Given the description of an element on the screen output the (x, y) to click on. 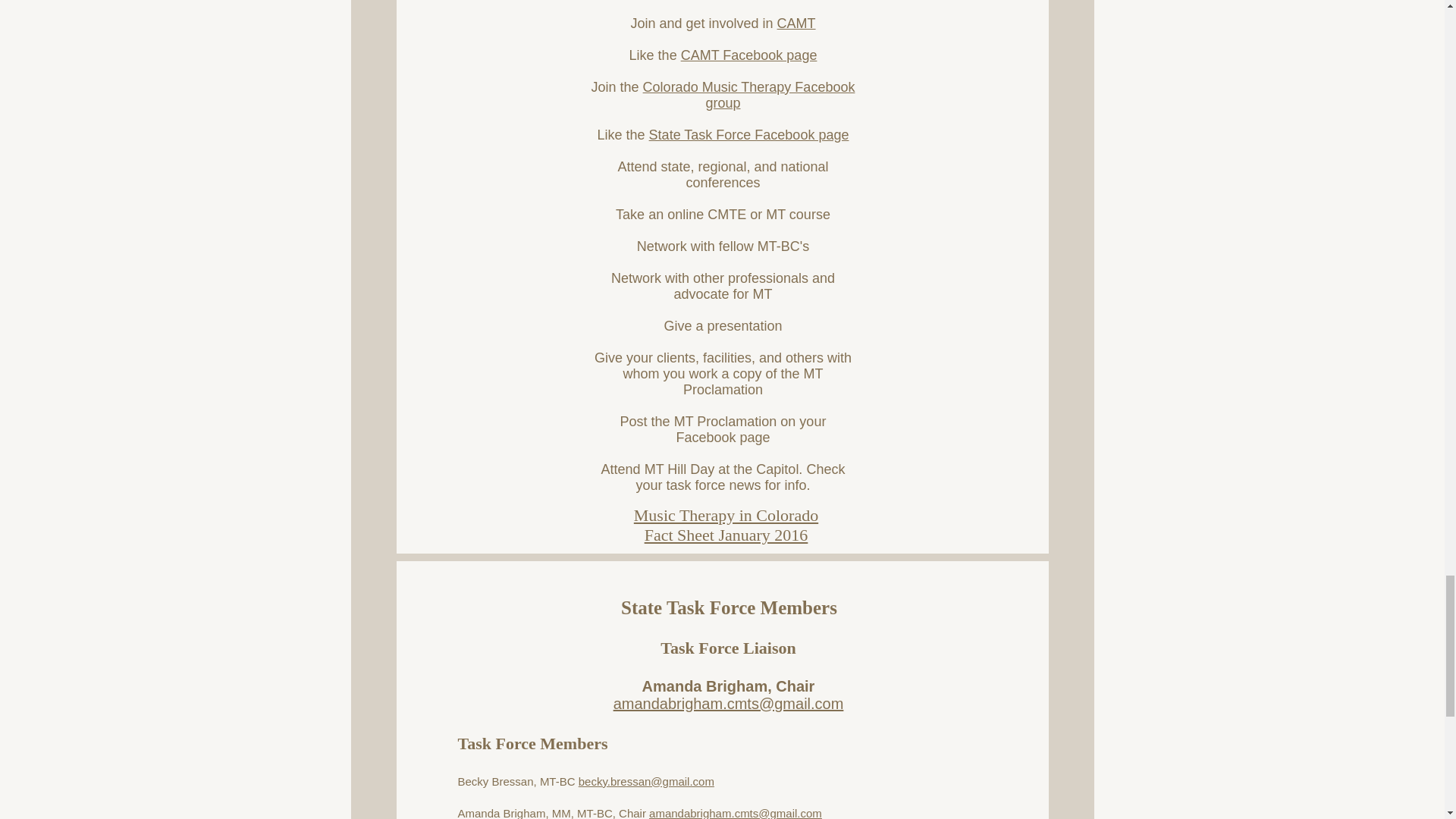
Colorado Music Therapy Facebook group (749, 94)
Music Therapy in Colorado (725, 515)
CAMT Facebook page (748, 55)
State Task Force Facebook page (748, 134)
CAMT (796, 23)
Fact Sheet January 2016 (726, 534)
